Given the description of an element on the screen output the (x, y) to click on. 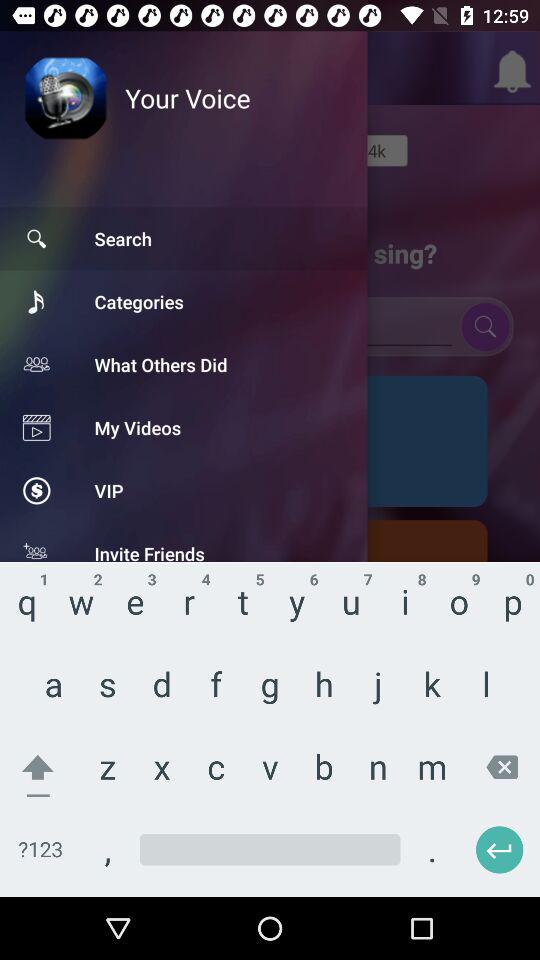
select the last  four alphabets in the second row of the key board (381, 690)
select the alphabets from y to o in the first row of the keyboard (381, 572)
